Given the description of an element on the screen output the (x, y) to click on. 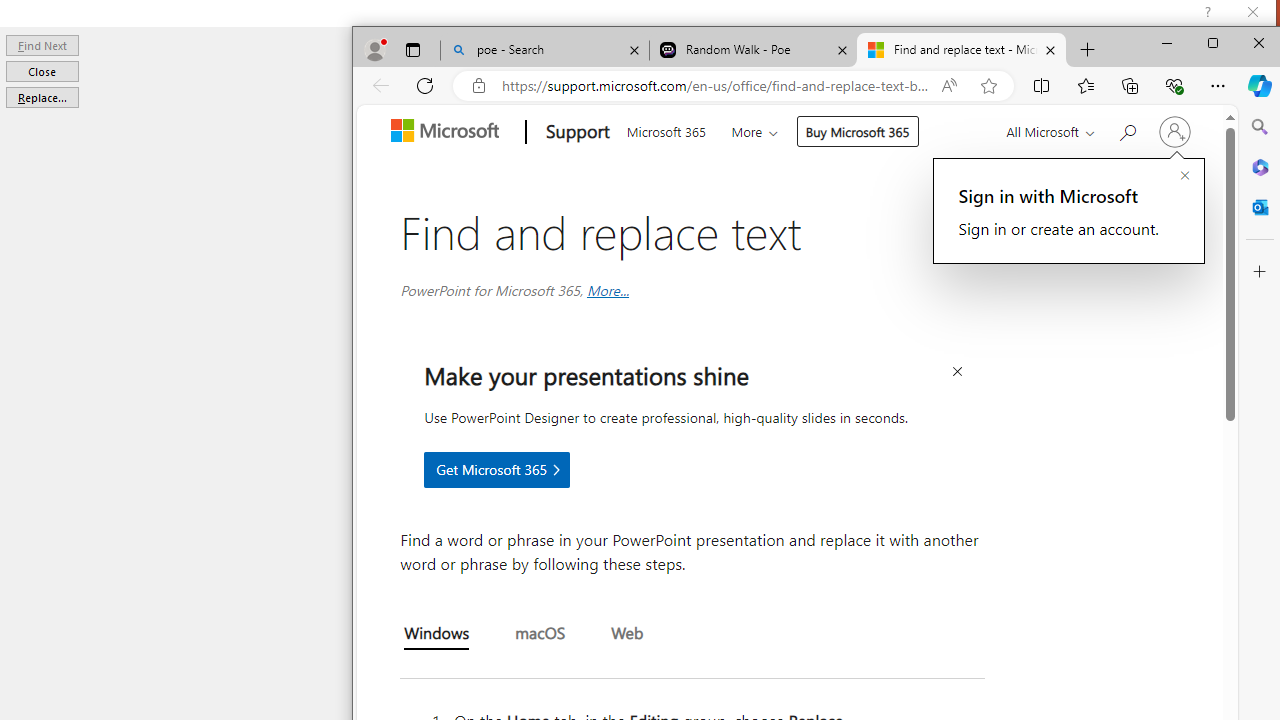
New Tab (1087, 50)
View site information (479, 85)
Tab actions menu (412, 50)
poe - Search (544, 50)
Add this page to favorites (Ctrl+D) (988, 85)
Search for help (1126, 130)
